Given the description of an element on the screen output the (x, y) to click on. 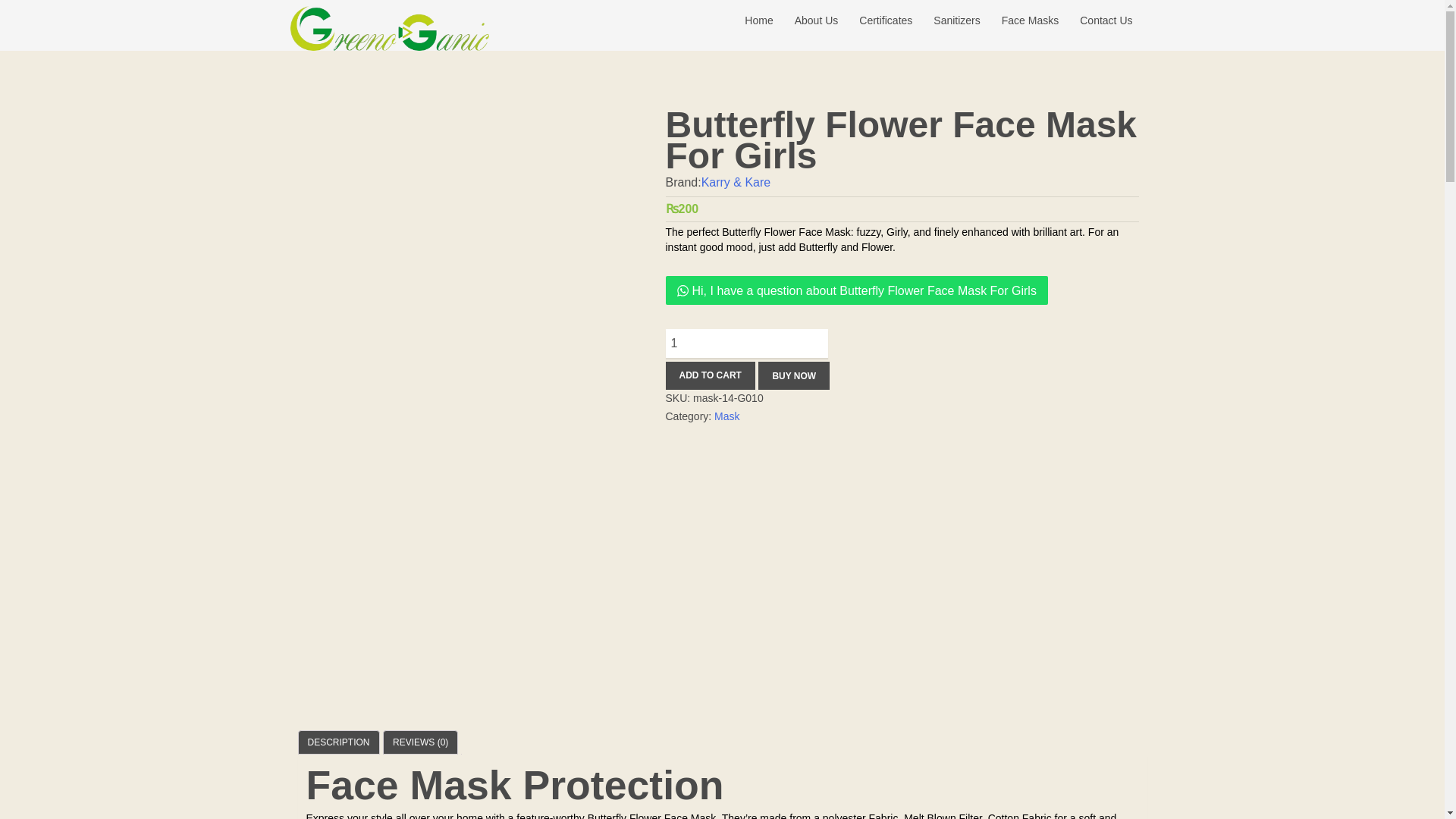
Sanitizers (956, 20)
Certificates (874, 20)
Green O Ganic (389, 27)
Certificates (874, 20)
Contact Us (1105, 20)
Face Masks (1018, 20)
Home (746, 20)
About Us (805, 20)
Home (758, 20)
